Given the description of an element on the screen output the (x, y) to click on. 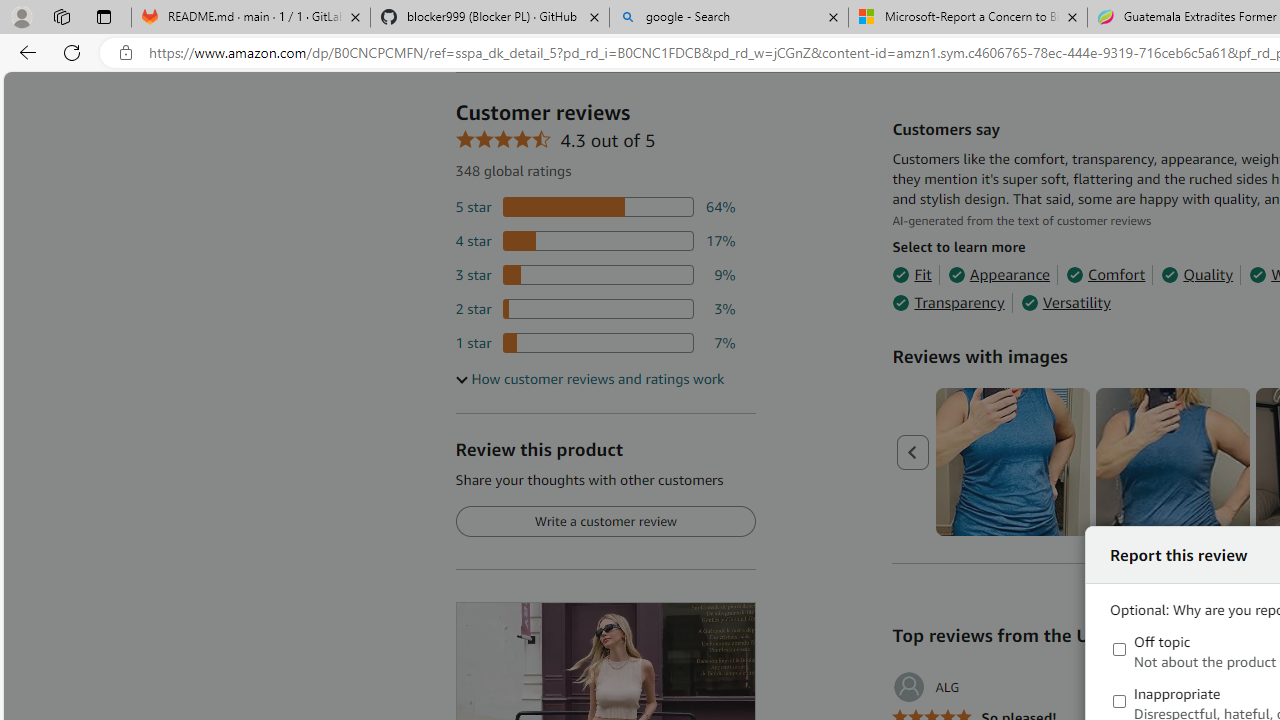
9 percent of reviews have 3 stars (595, 274)
Customer Image (1172, 462)
